Given the description of an element on the screen output the (x, y) to click on. 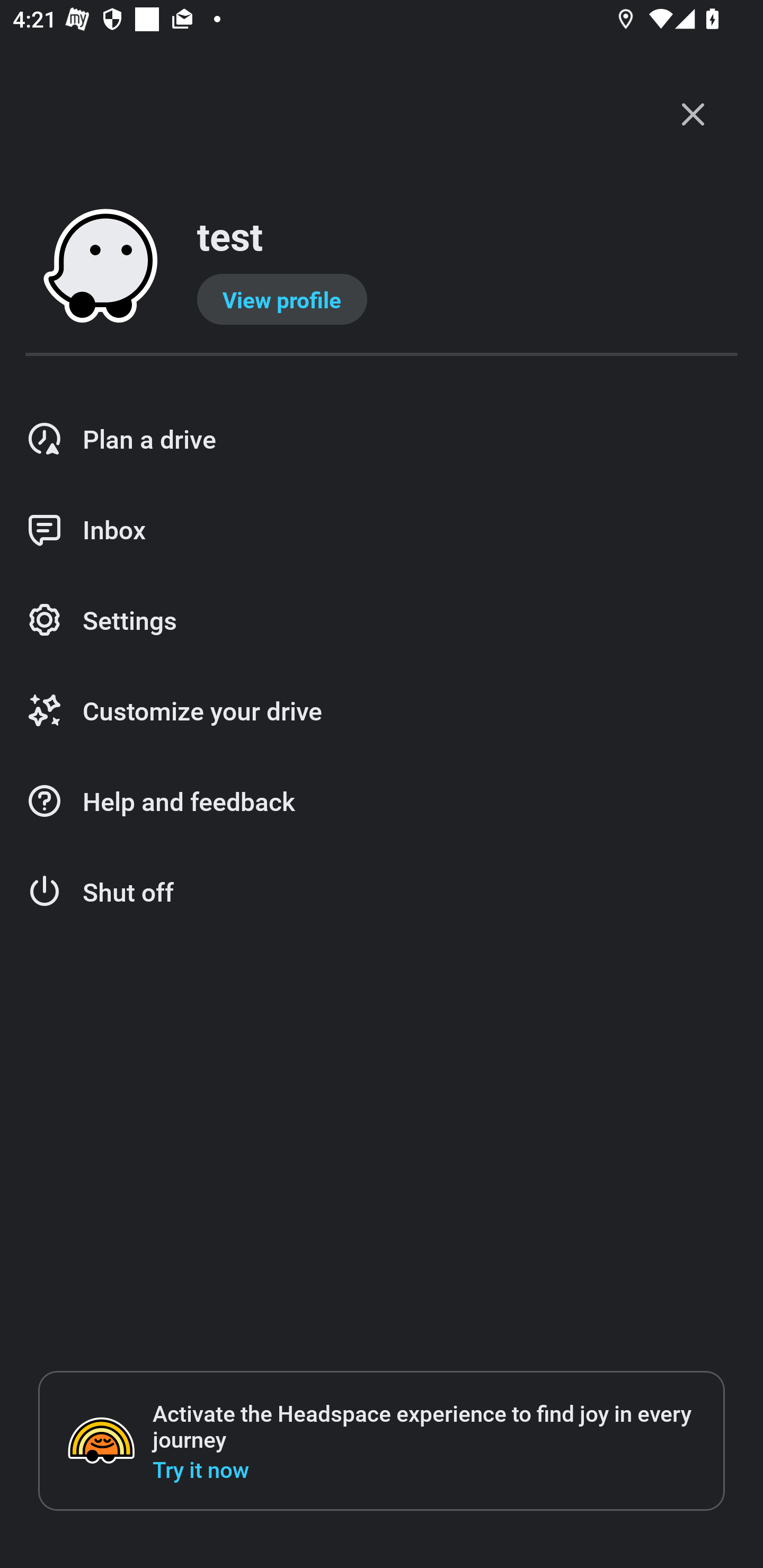
test View profile (381, 266)
View profile (281, 299)
ACTION_CELL_ICON Plan a drive ACTION_CELL_TEXT (381, 438)
ACTION_CELL_ICON Inbox ACTION_CELL_TEXT (381, 529)
ACTION_CELL_ICON Settings ACTION_CELL_TEXT (381, 620)
ACTION_CELL_ICON Shut off ACTION_CELL_TEXT (381, 891)
